Given the description of an element on the screen output the (x, y) to click on. 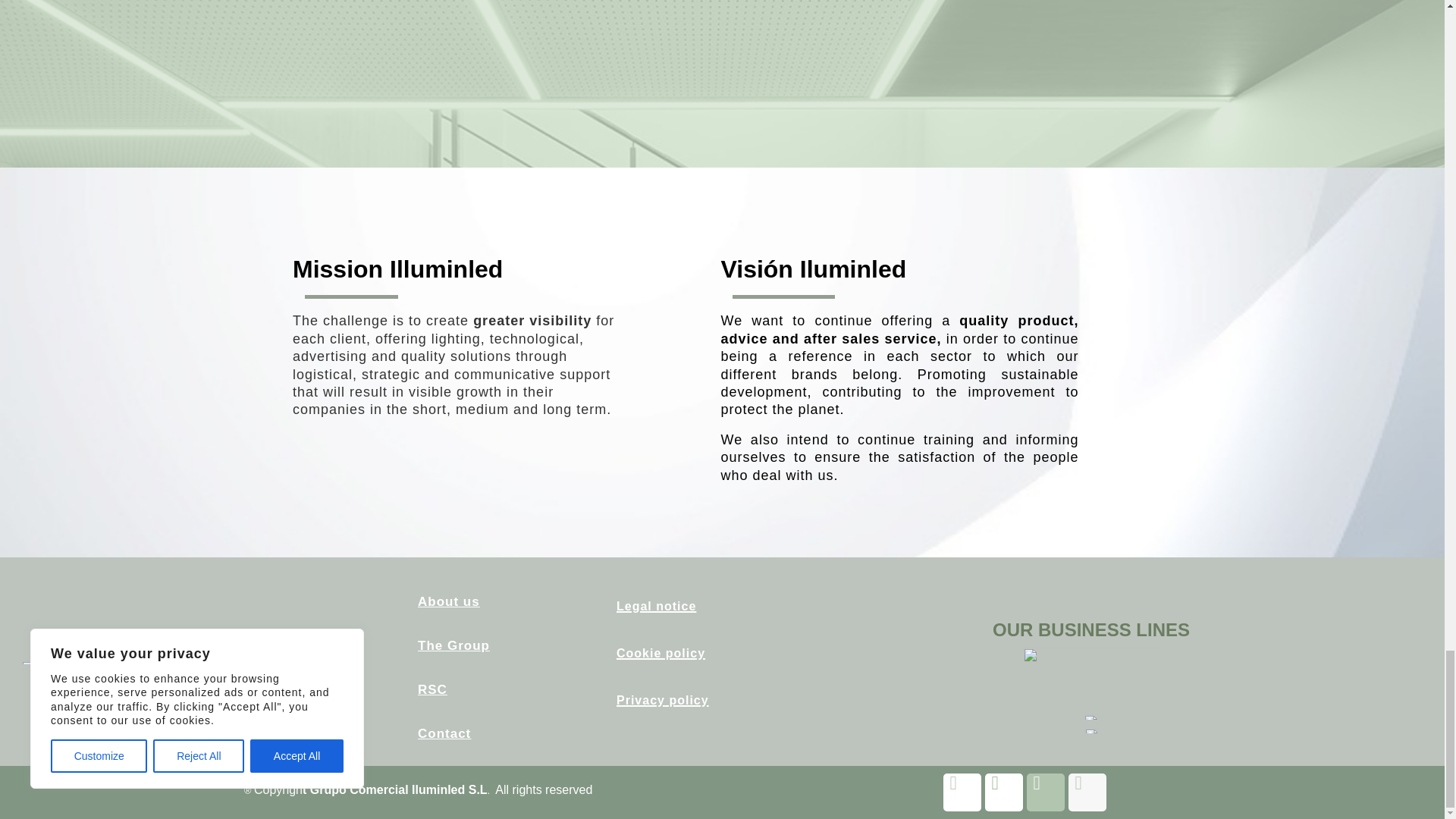
RSC (431, 689)
About us (448, 601)
The Group (453, 645)
Contact (443, 733)
Legal notice (655, 605)
